Given the description of an element on the screen output the (x, y) to click on. 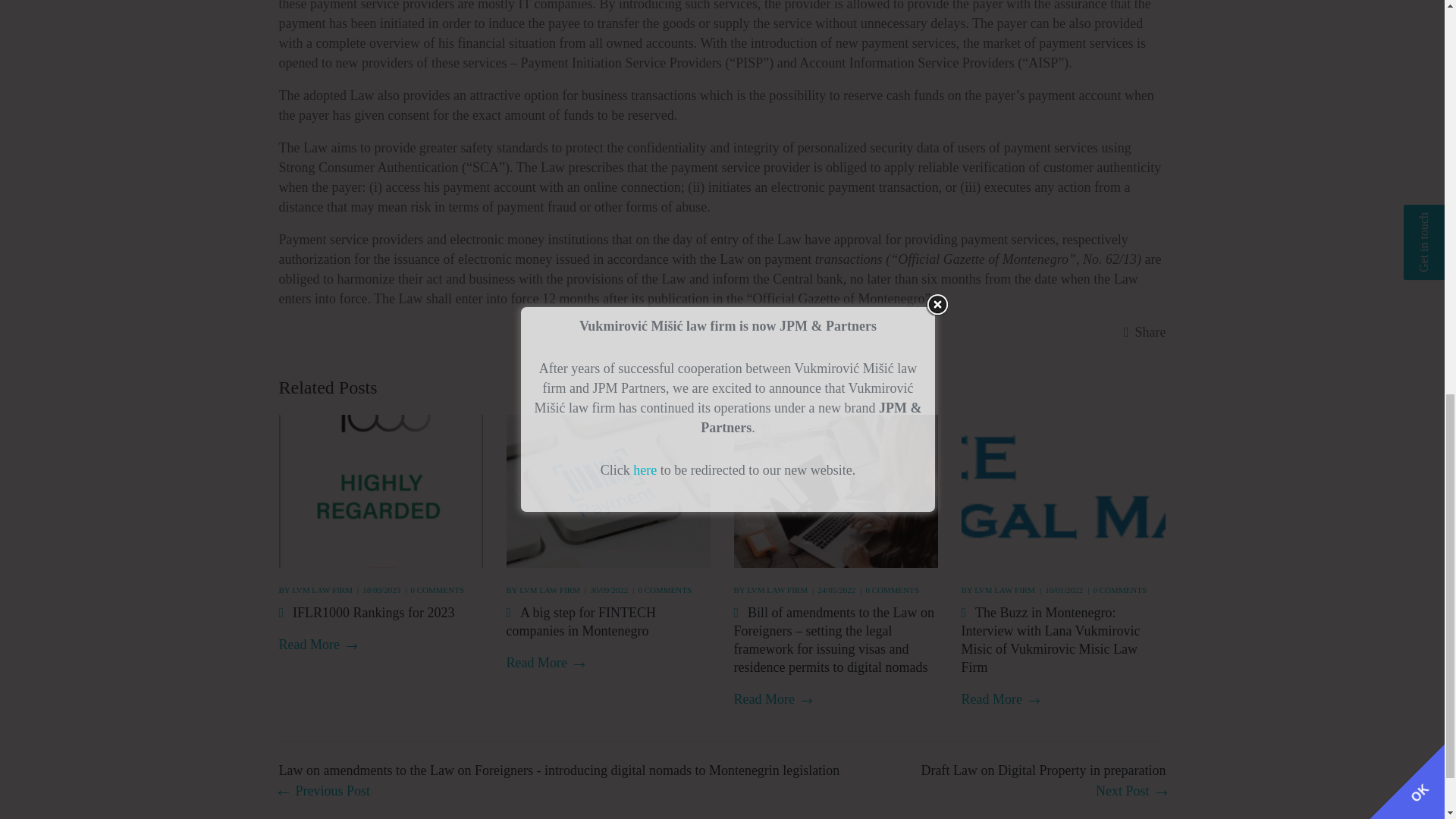
Draft Law on Digital Property in preparation (1043, 780)
Share (1145, 332)
IFLR1000 Rankings for 2023   (376, 612)
LVM LAW FIRM (322, 589)
0 COMMENTS (437, 589)
Read More (317, 644)
